Given the description of an element on the screen output the (x, y) to click on. 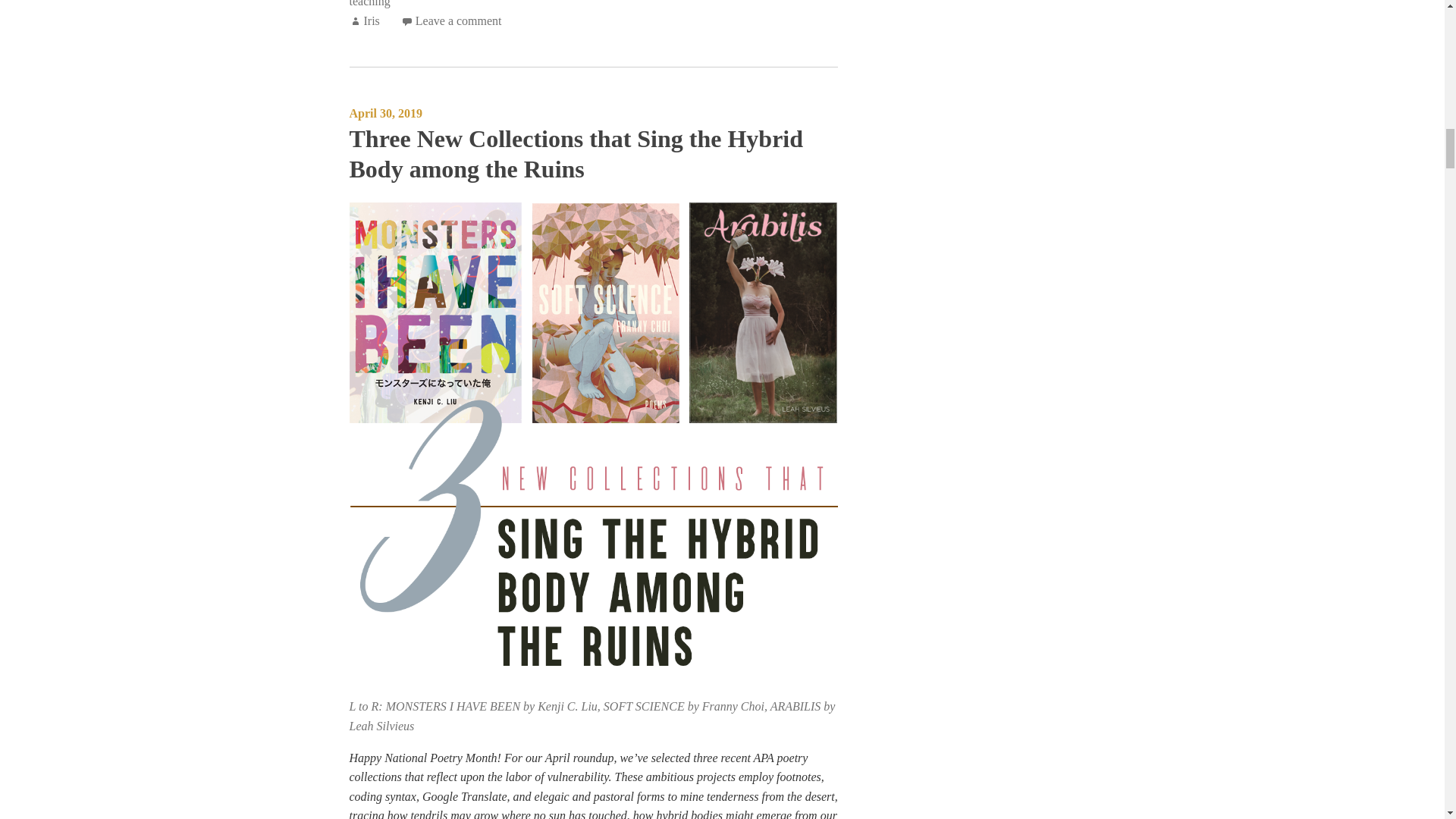
Leave a comment (458, 20)
April 30, 2019 (385, 113)
teaching (369, 3)
Iris (372, 20)
